Given the description of an element on the screen output the (x, y) to click on. 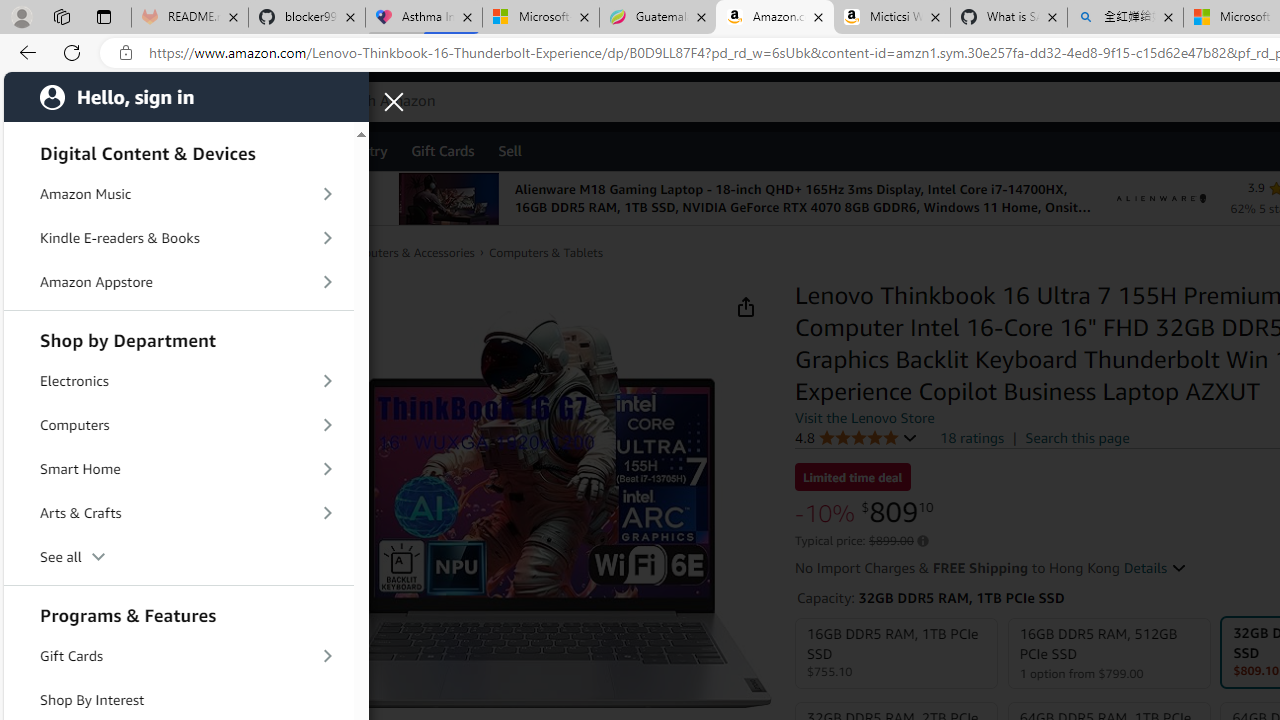
Computers & Accessories (406, 252)
Search this page (1077, 437)
Amazon Music (178, 194)
Computers (178, 425)
Customer Service (256, 150)
See all (178, 557)
Amazon (76, 101)
Skip to main content (86, 100)
Arts & Crafts (178, 513)
